Given the description of an element on the screen output the (x, y) to click on. 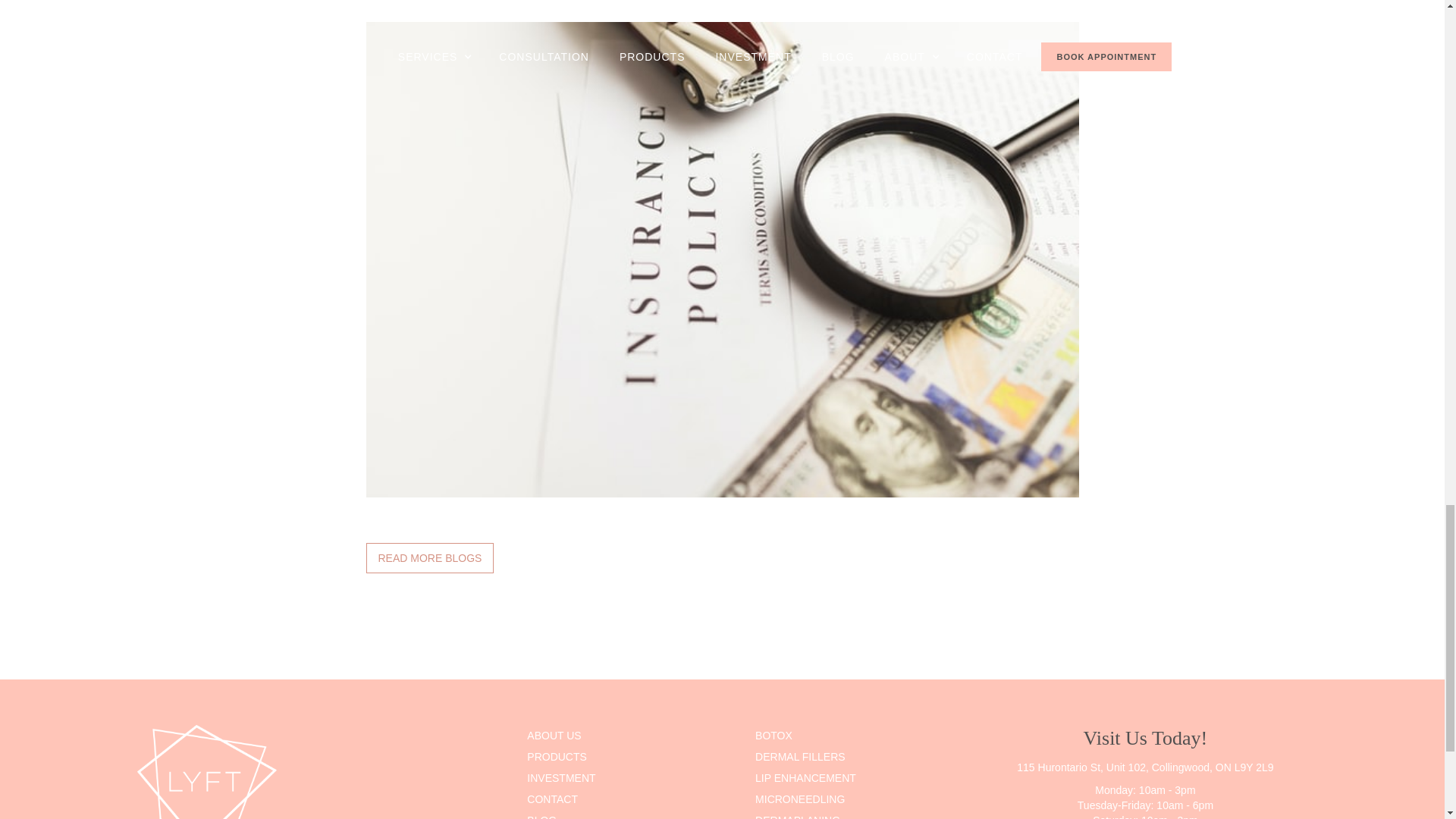
PRODUCTS (634, 756)
READ MORE BLOGS (429, 557)
INVESTMENT (634, 777)
ABOUT US (634, 735)
